Given the description of an element on the screen output the (x, y) to click on. 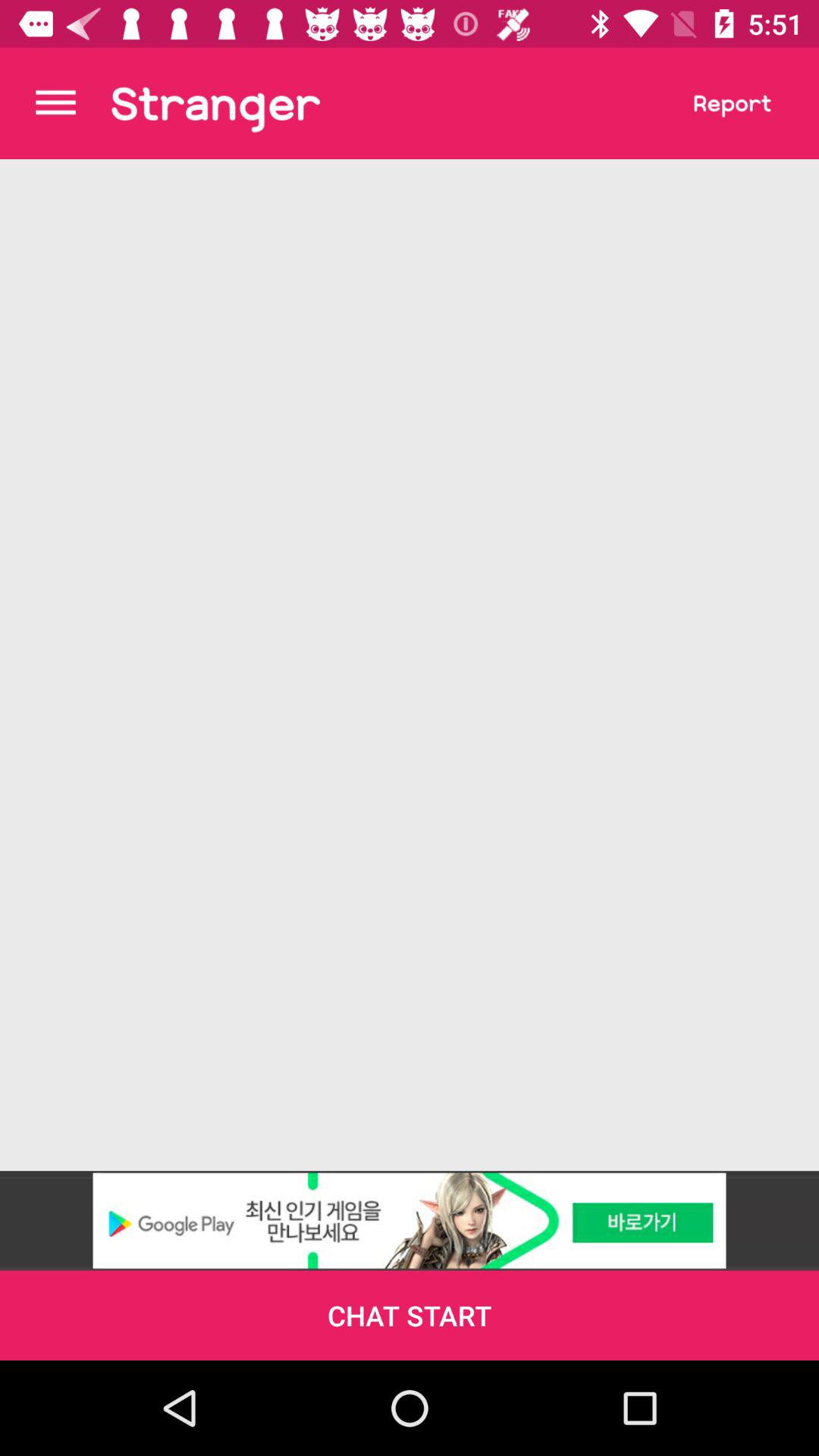
select one (215, 103)
